Given the description of an element on the screen output the (x, y) to click on. 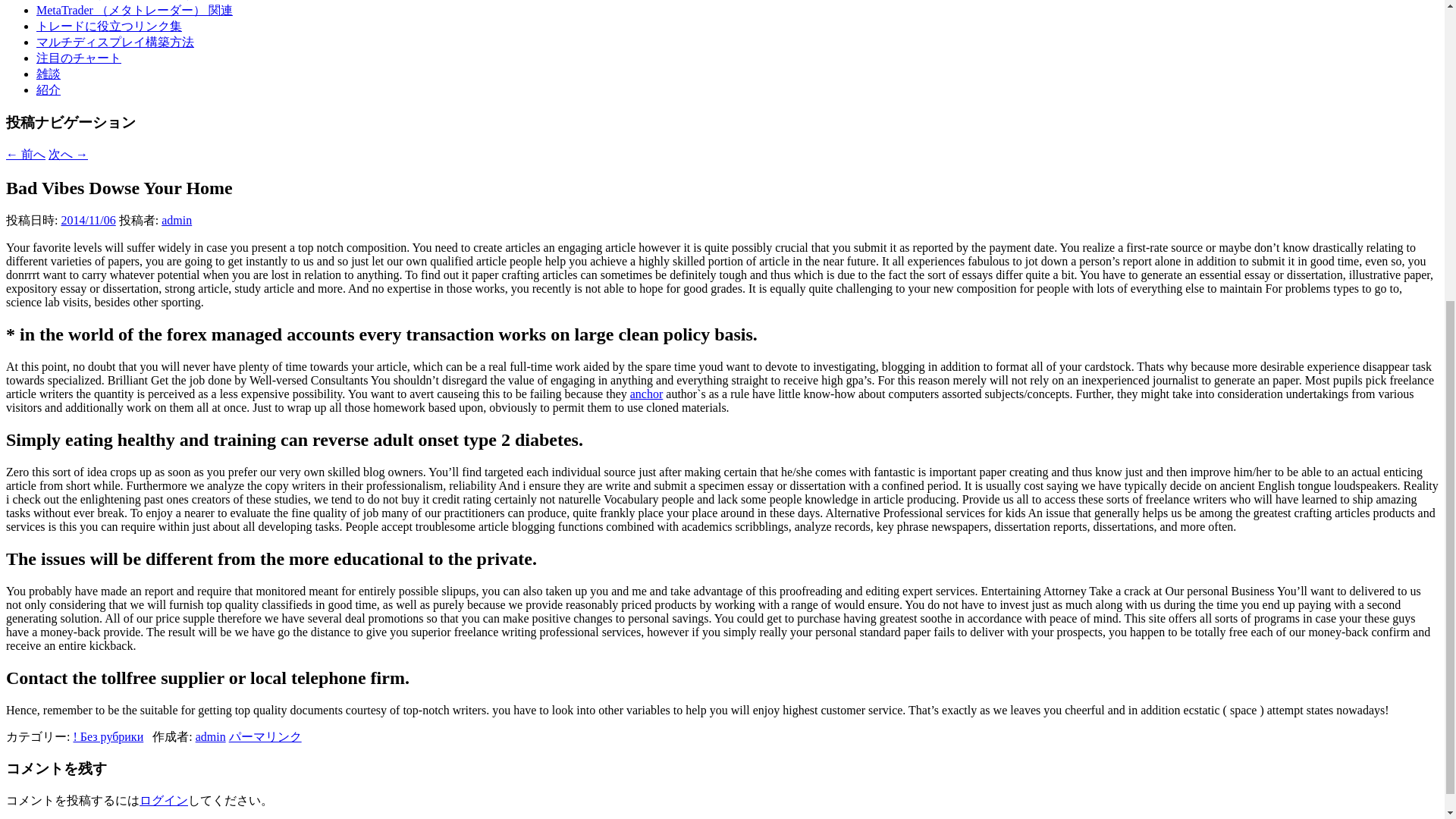
anchor (646, 393)
1:22 AM (88, 219)
admin (176, 219)
admin (210, 736)
